Given the description of an element on the screen output the (x, y) to click on. 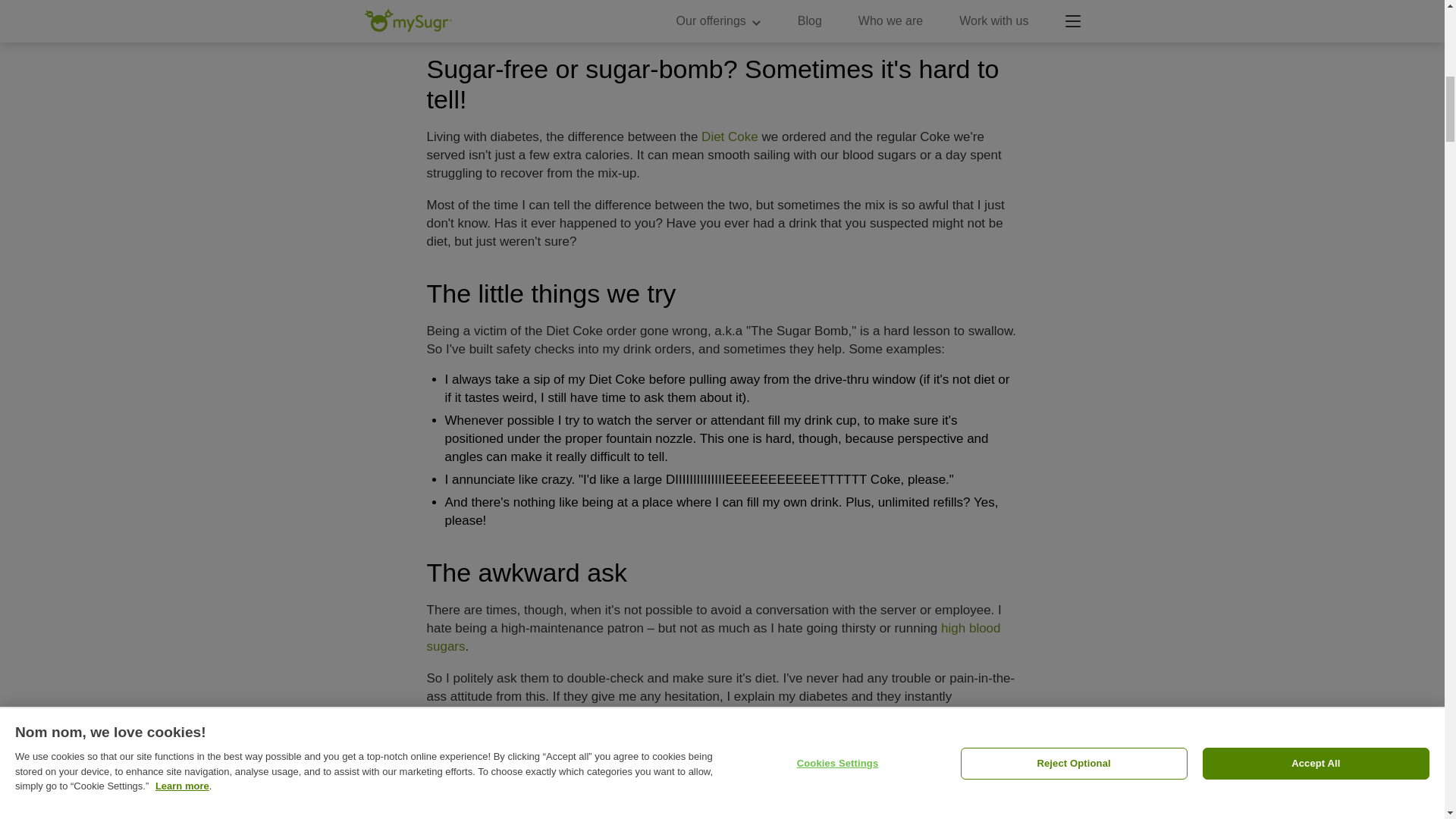
Diet Coke (729, 136)
high blood sugars (713, 636)
